Given the description of an element on the screen output the (x, y) to click on. 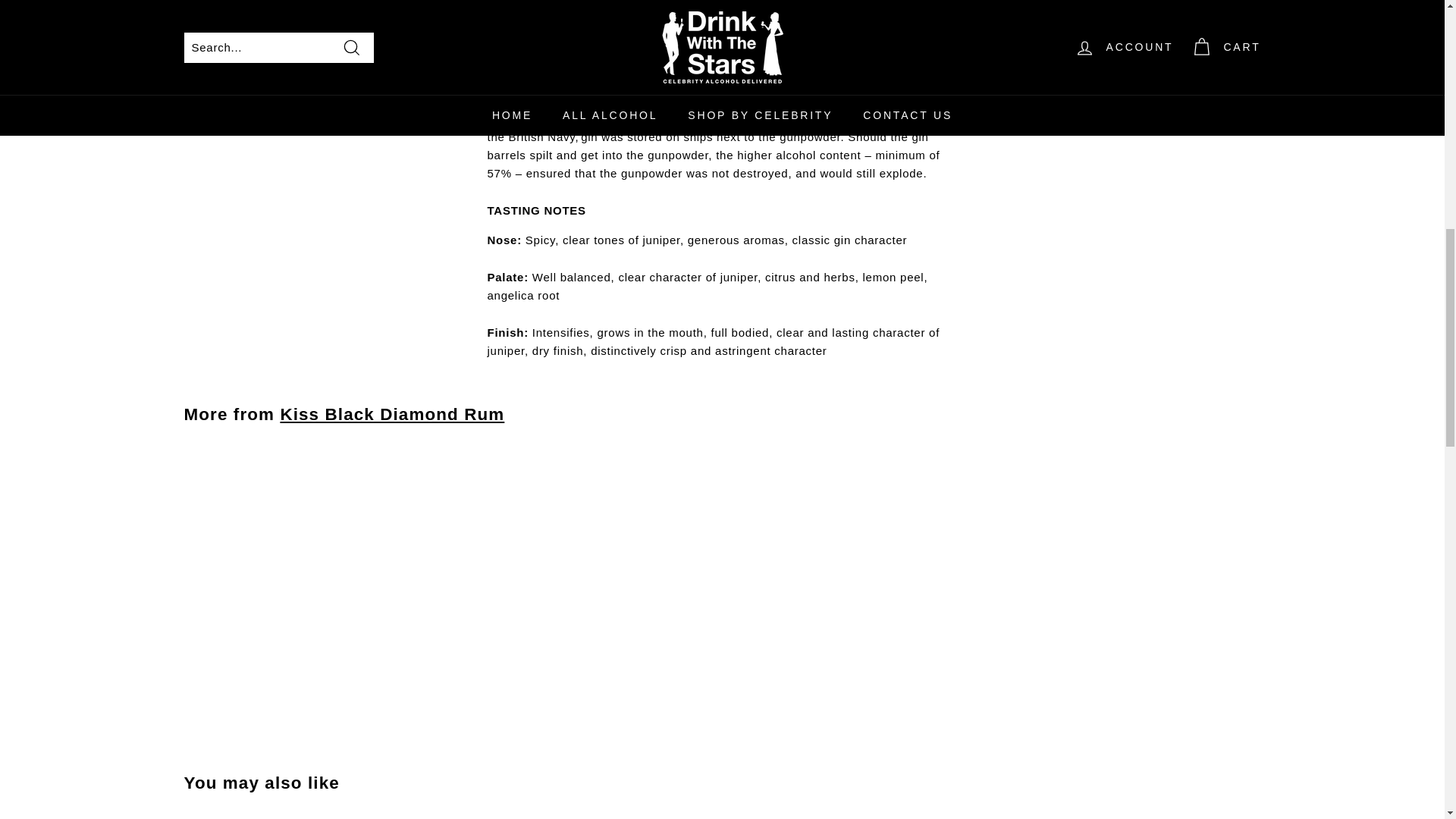
Kiss Black Diamond Rum (391, 414)
